Given the description of an element on the screen output the (x, y) to click on. 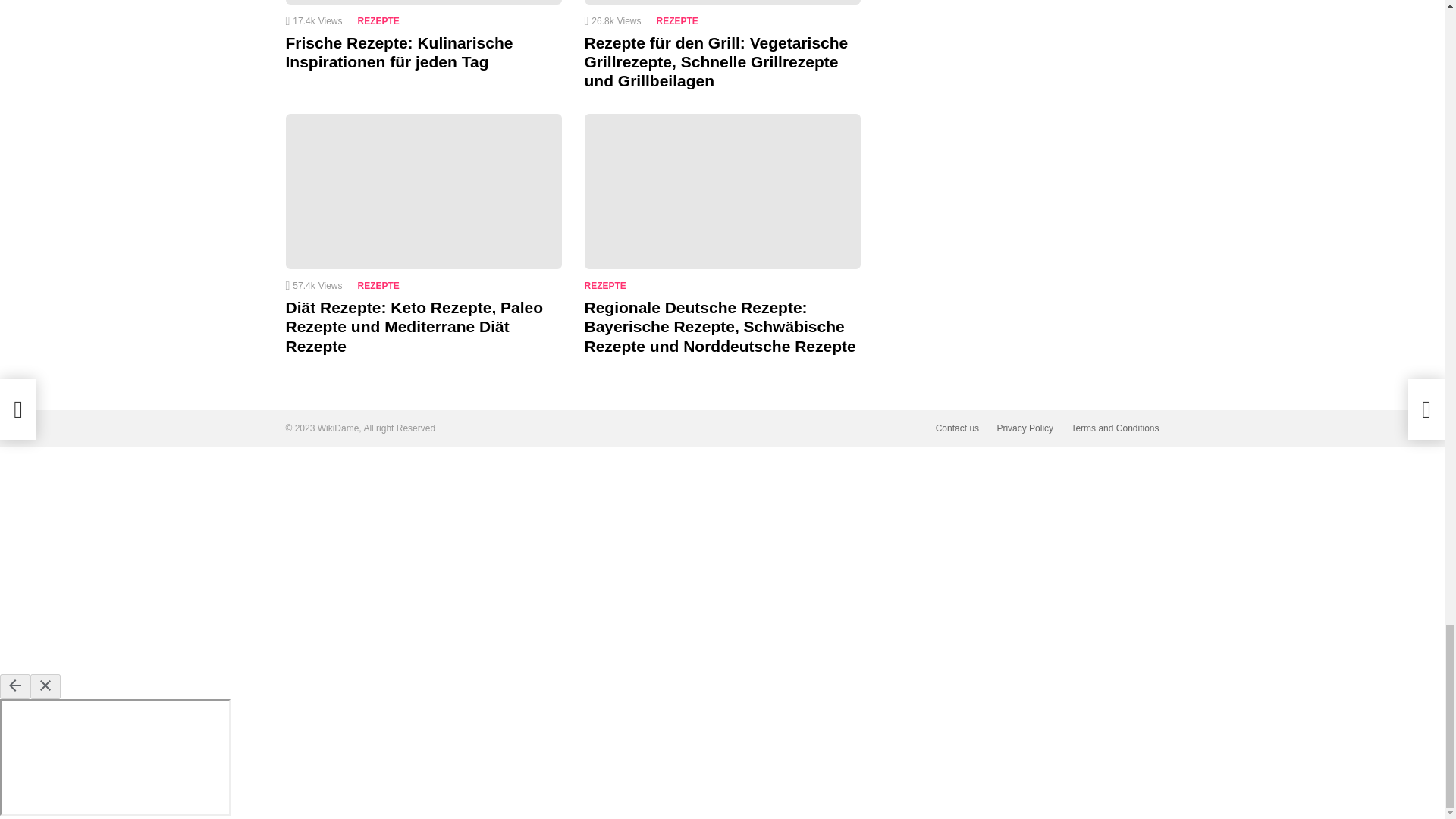
REZEPTE (382, 285)
REZEPTE (382, 20)
REZEPTE (607, 285)
REZEPTE (680, 20)
